Given the description of an element on the screen output the (x, y) to click on. 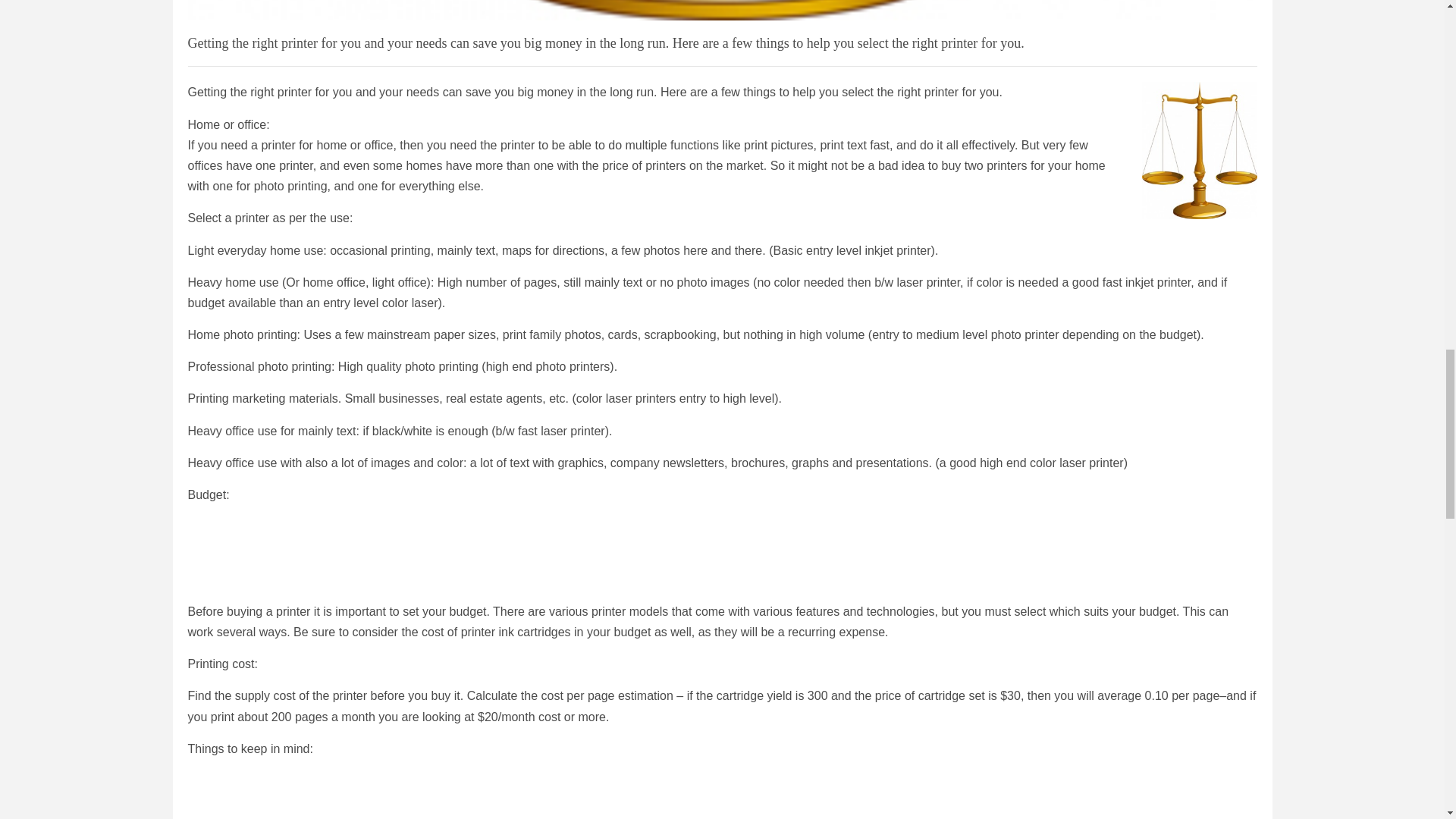
Advertisement (365, 577)
Advertisement (282, 805)
